Given the description of an element on the screen output the (x, y) to click on. 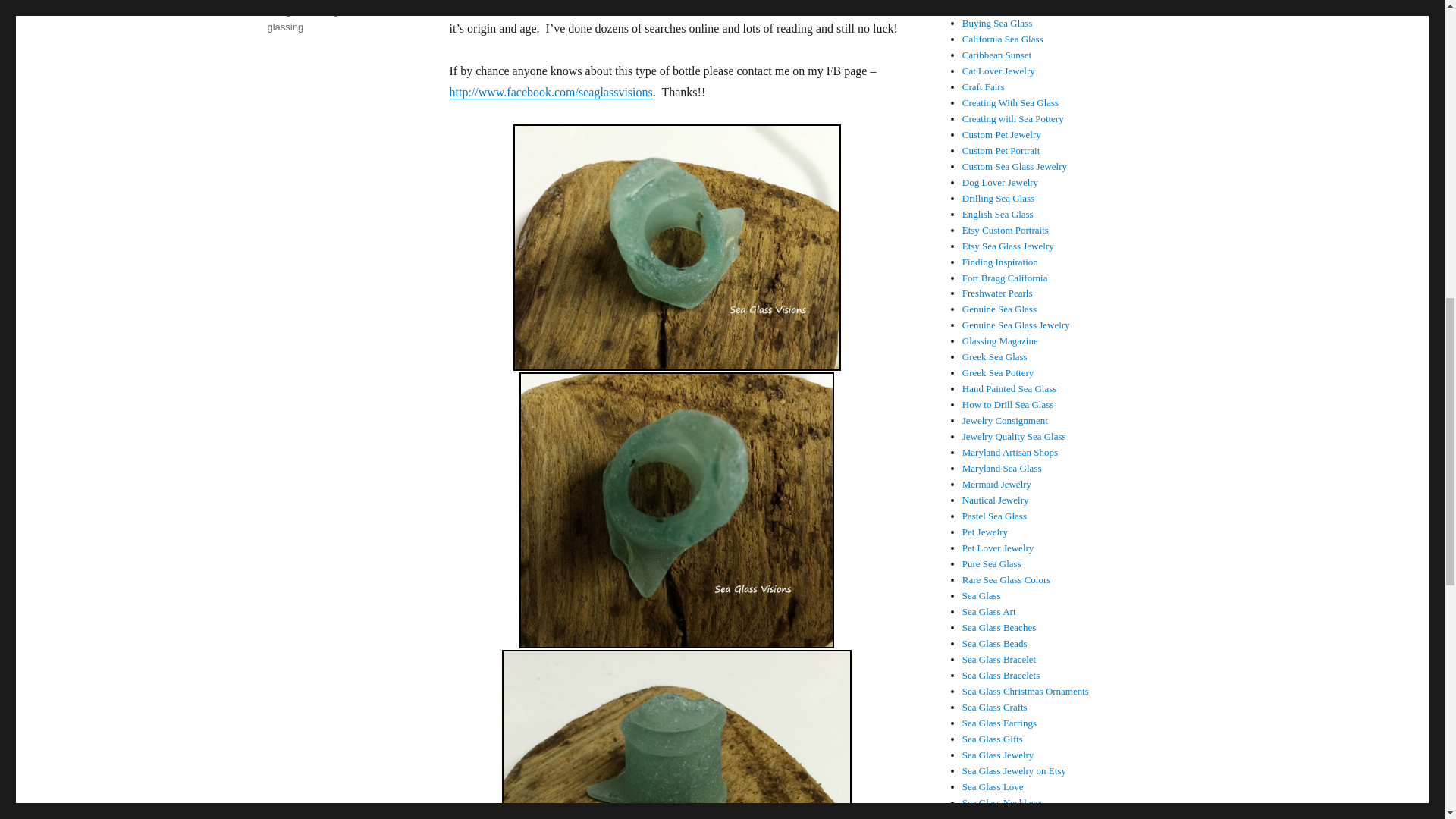
Buying Sea Glass (997, 22)
Caribbean Sunset (996, 54)
Creating with Sea Pottery (1013, 118)
Bottle Neck (676, 734)
California Sea Glass (1002, 39)
Creating With Sea Glass (1010, 102)
Custom Pet Jewelry (1001, 134)
Custom Pet Portrait (1001, 150)
SeaGlassVisions (550, 91)
Cat Lover Jewelry (998, 70)
sea glass (287, 10)
Craft Fairs (983, 86)
beach combing (364, 0)
sea glass finds (347, 10)
